Given the description of an element on the screen output the (x, y) to click on. 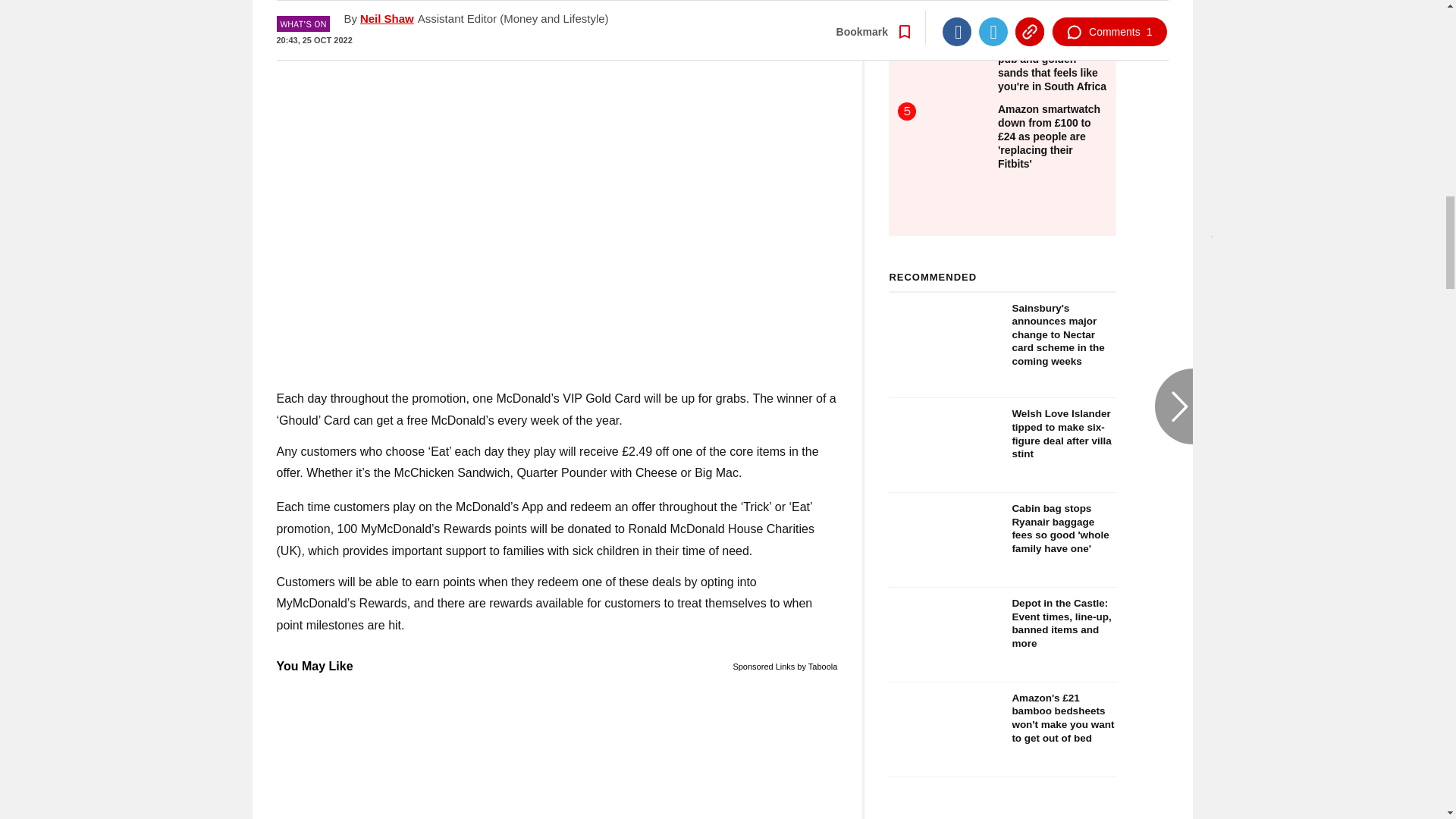
What is your writing missing? (557, 748)
